Given the description of an element on the screen output the (x, y) to click on. 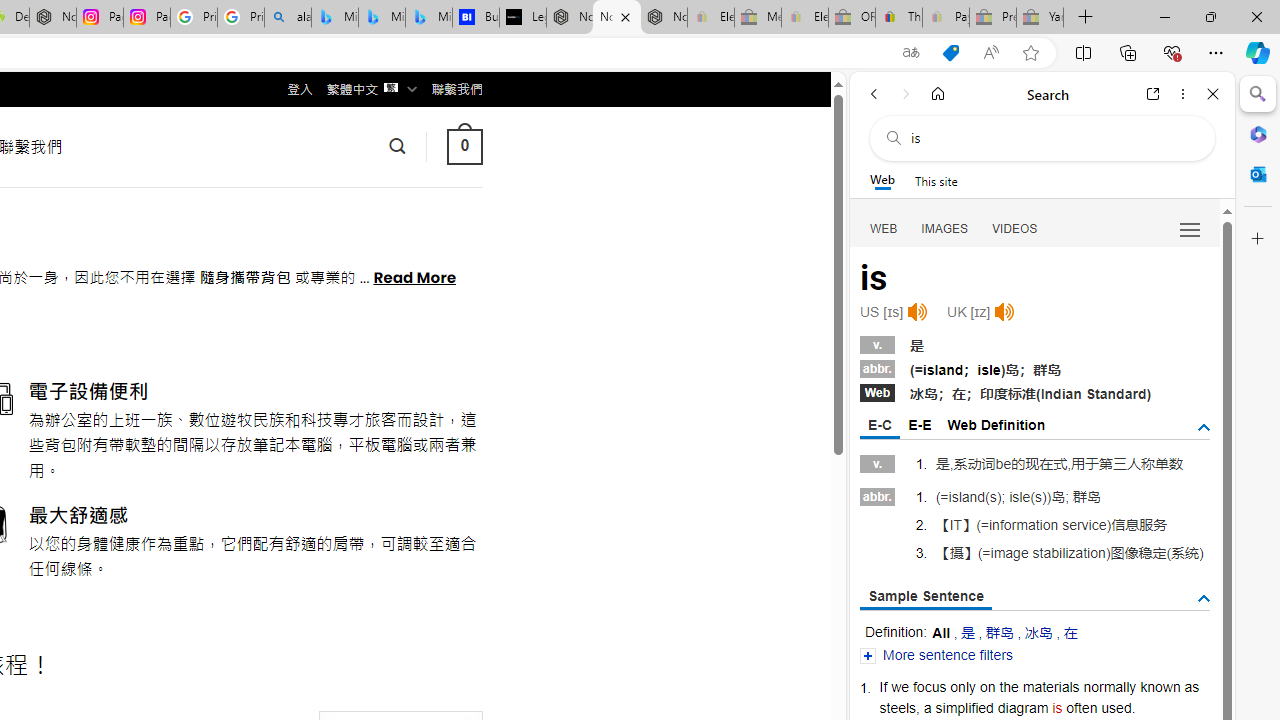
used (1115, 707)
